Given the description of an element on the screen output the (x, y) to click on. 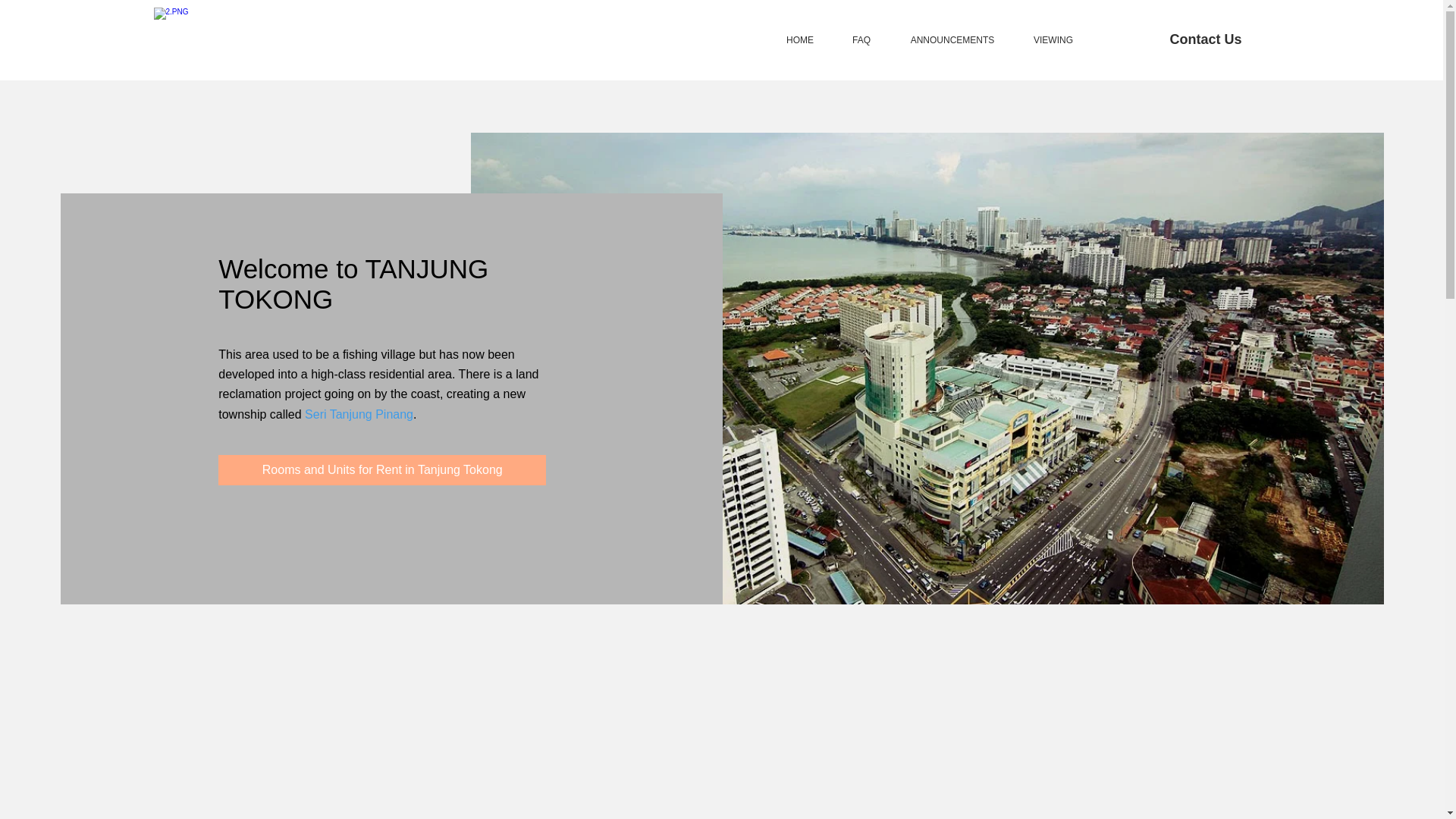
ANNOUNCEMENTS (951, 39)
FAQ (860, 39)
HOME (799, 39)
VIEWING (1052, 39)
Rooms and Units for Rent in Tanjung Tokong (382, 470)
Contact Us (1205, 40)
Seri Tanjung Pinang (358, 413)
